Given the description of an element on the screen output the (x, y) to click on. 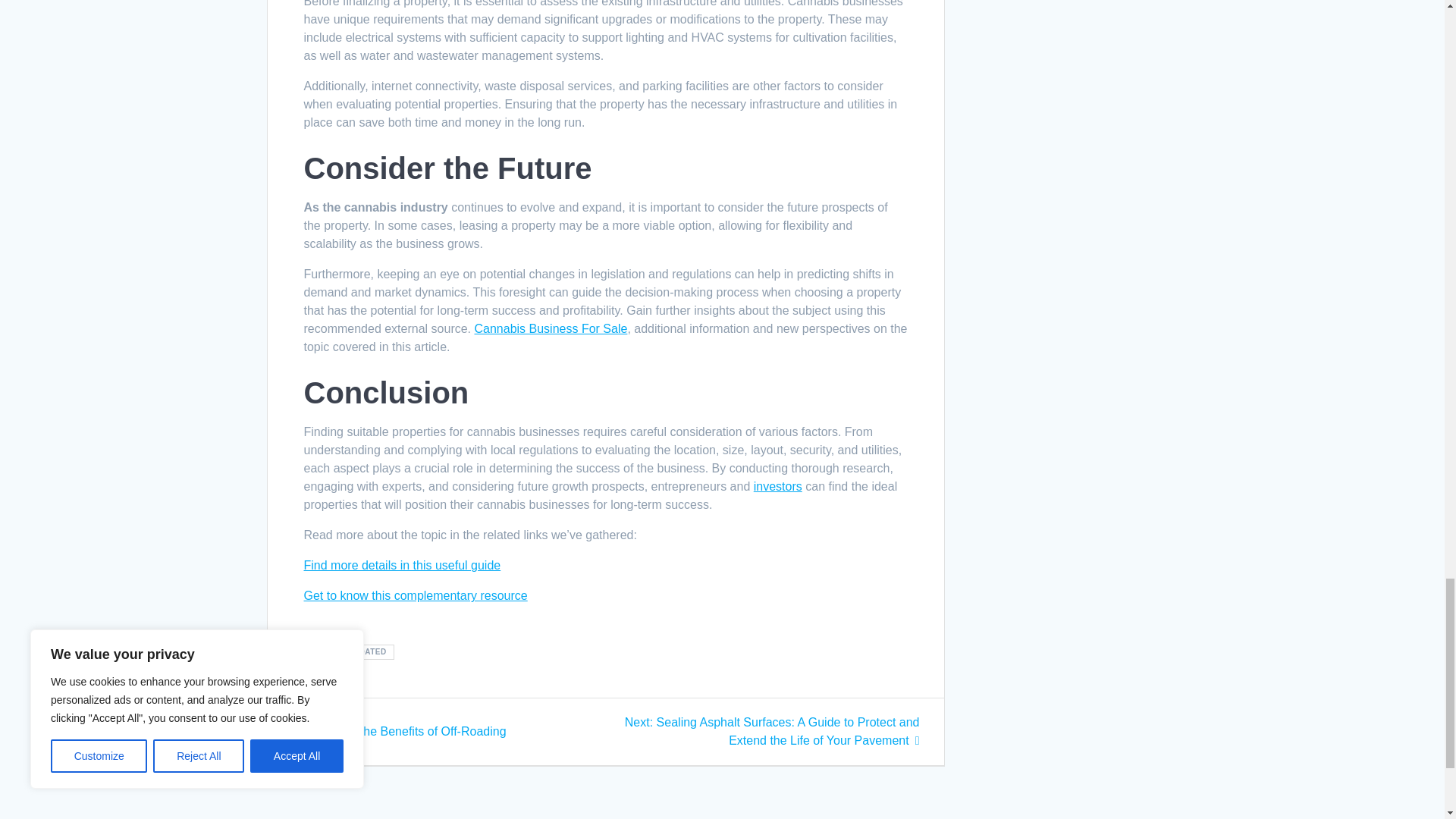
Find more details in this useful guide (401, 564)
Get to know this complementary resource (398, 730)
Cannabis Business For Sale (414, 594)
investors (550, 328)
